Given the description of an element on the screen output the (x, y) to click on. 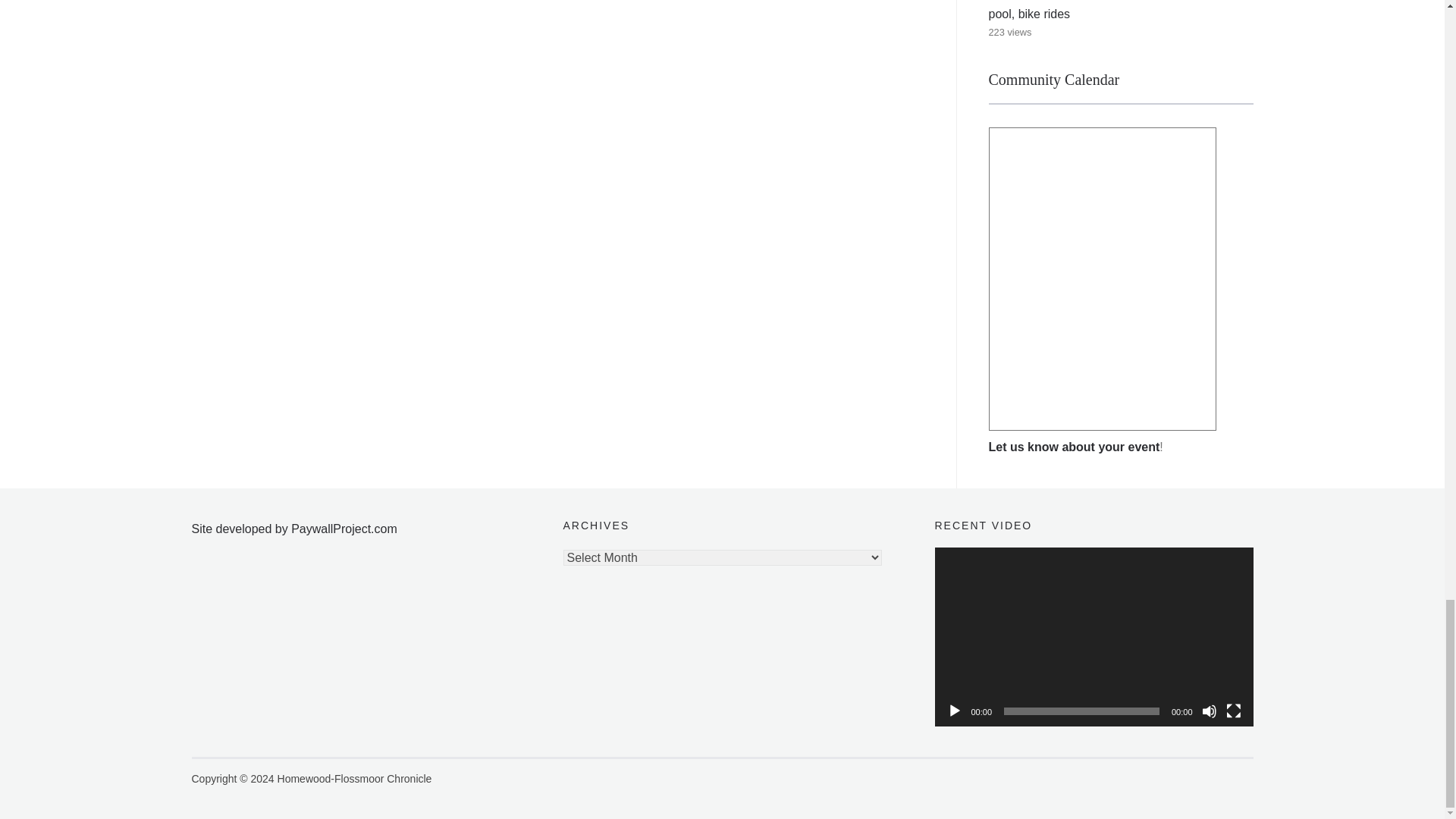
Mute (1208, 711)
Play (953, 711)
Fullscreen (1232, 711)
